Given the description of an element on the screen output the (x, y) to click on. 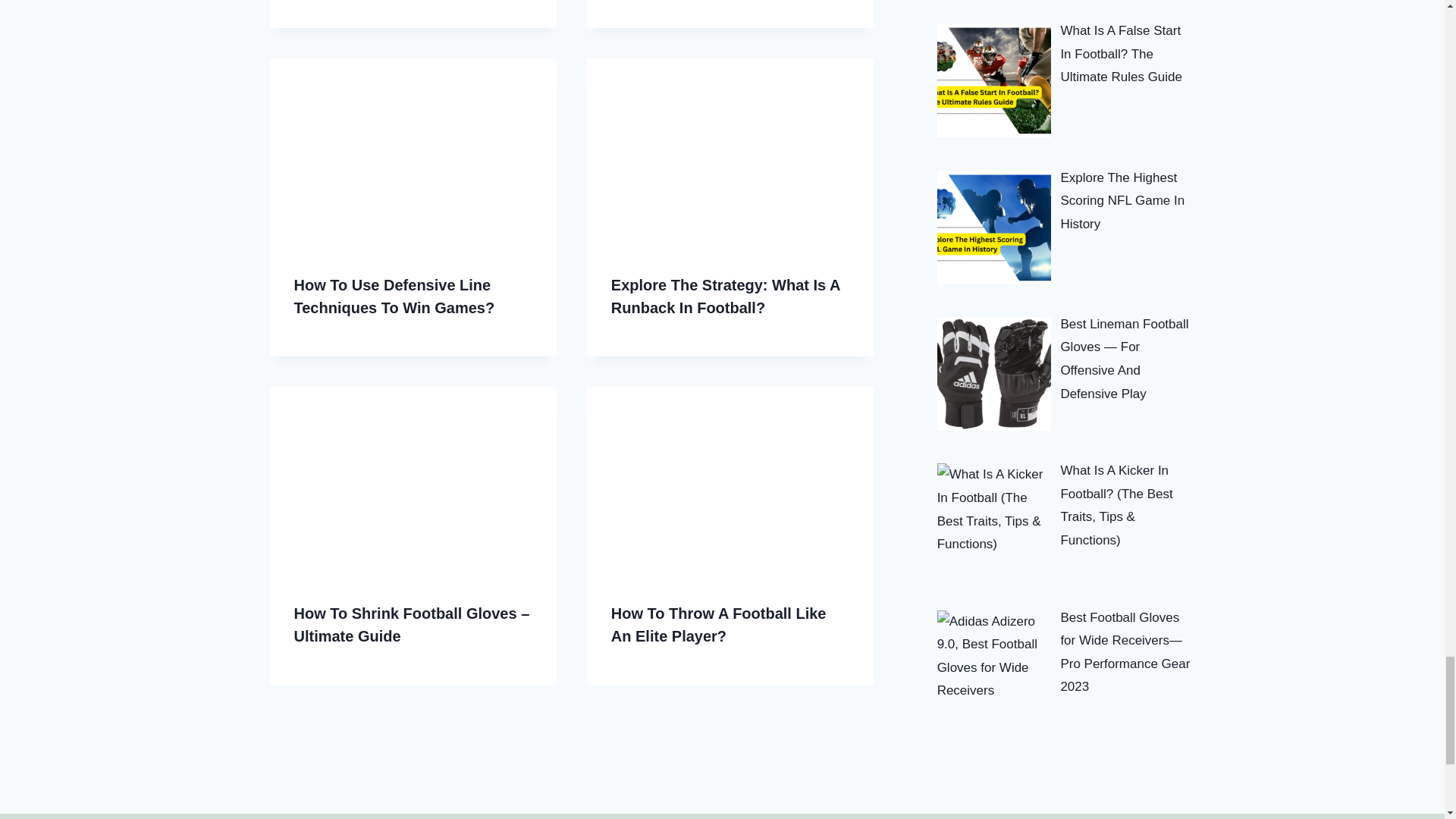
Explore The Strategy: What Is A Runback In Football? (725, 296)
How To Use Defensive Line Techniques To Win Games? (394, 296)
